Given the description of an element on the screen output the (x, y) to click on. 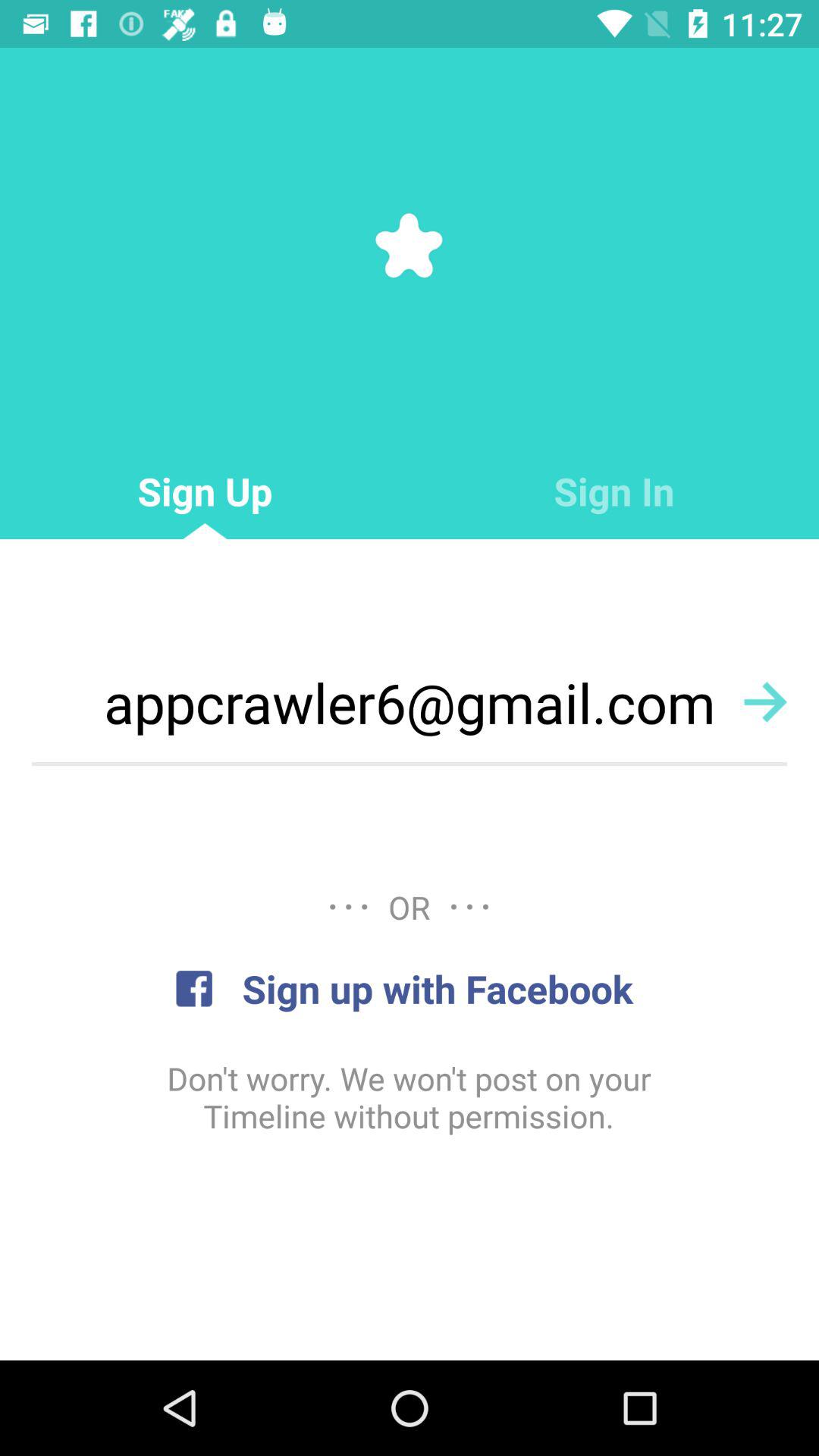
click appcrawler6@gmail.com item (409, 702)
